Given the description of an element on the screen output the (x, y) to click on. 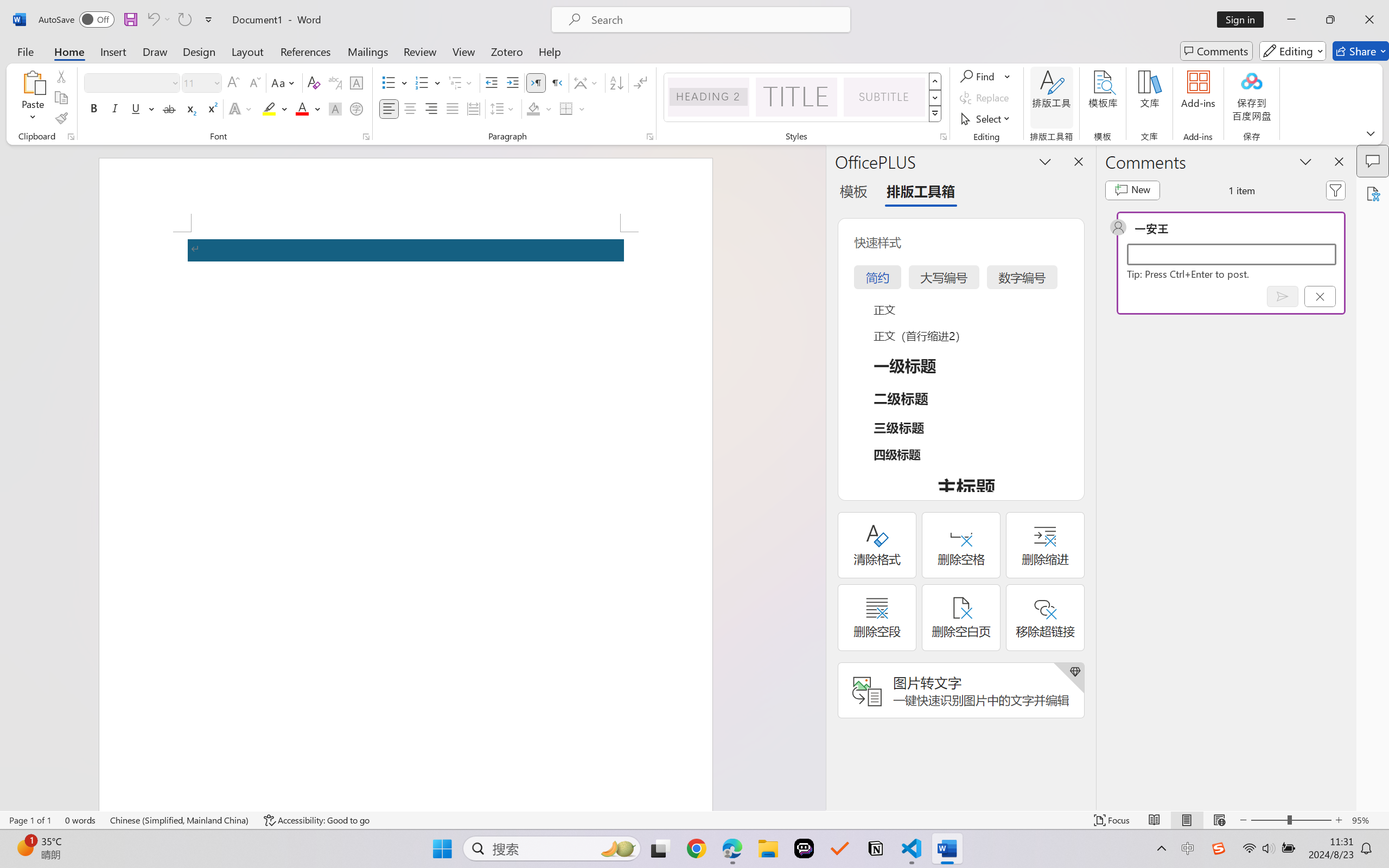
Shading No Color (533, 108)
Filter (1335, 190)
